Given the description of an element on the screen output the (x, y) to click on. 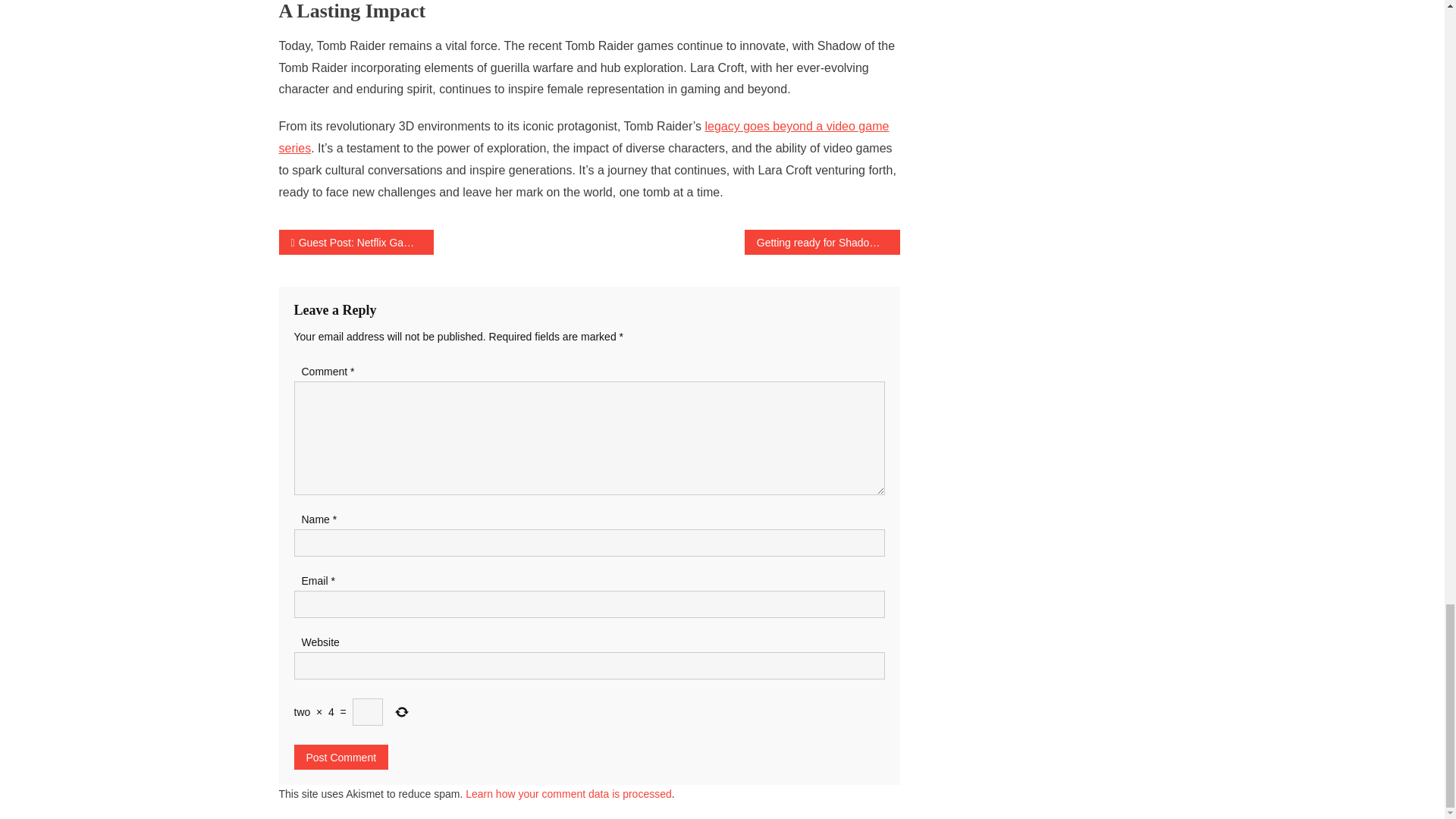
Post Comment (341, 756)
Learn how your comment data is processed (568, 793)
Post Comment (341, 756)
Guest Post: Netflix Games in 2024 (356, 242)
legacy goes beyond a video game series (584, 136)
Getting ready for Shadow of the Erdtree in Elden Ring (821, 242)
